Given the description of an element on the screen output the (x, y) to click on. 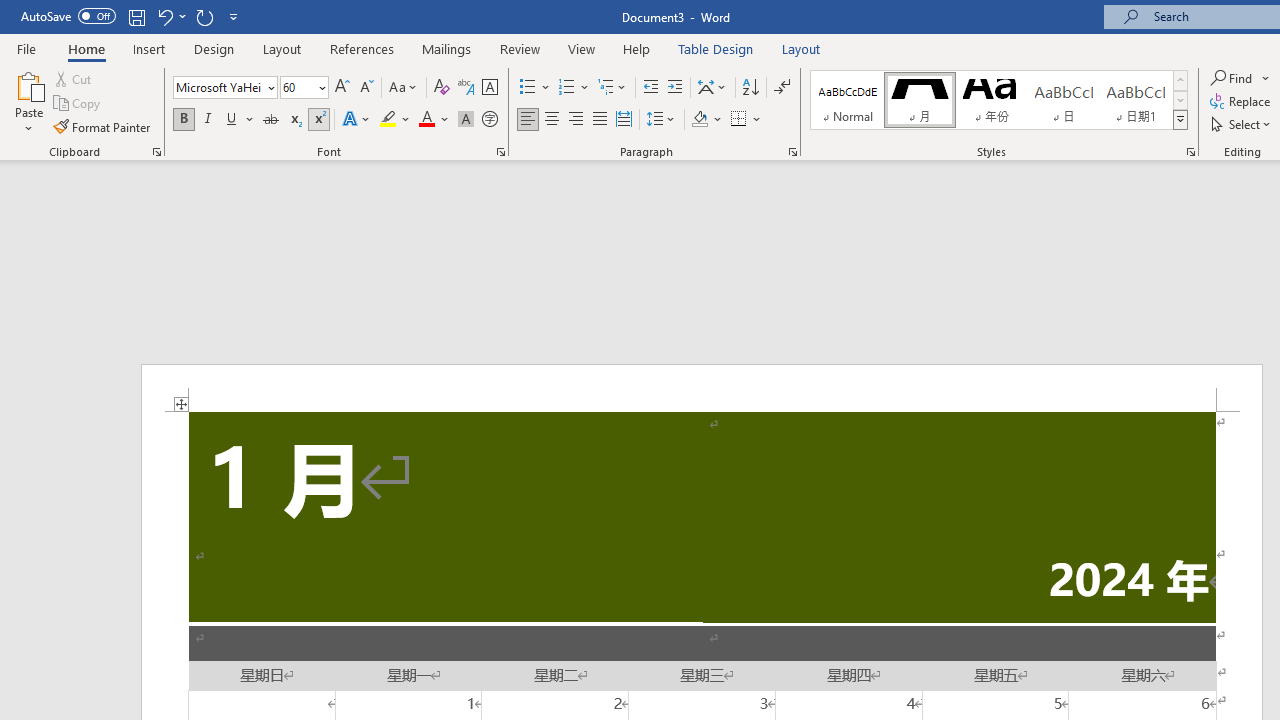
Borders (739, 119)
Bullets (535, 87)
Bold (183, 119)
Numbering (573, 87)
Enclose Characters... (489, 119)
Superscript (319, 119)
Help (637, 48)
Shading RGB(0, 0, 0) (699, 119)
Text Effects and Typography (357, 119)
Header -Section 1- (701, 387)
Sort... (750, 87)
Line and Paragraph Spacing (661, 119)
Italic (207, 119)
